Given the description of an element on the screen output the (x, y) to click on. 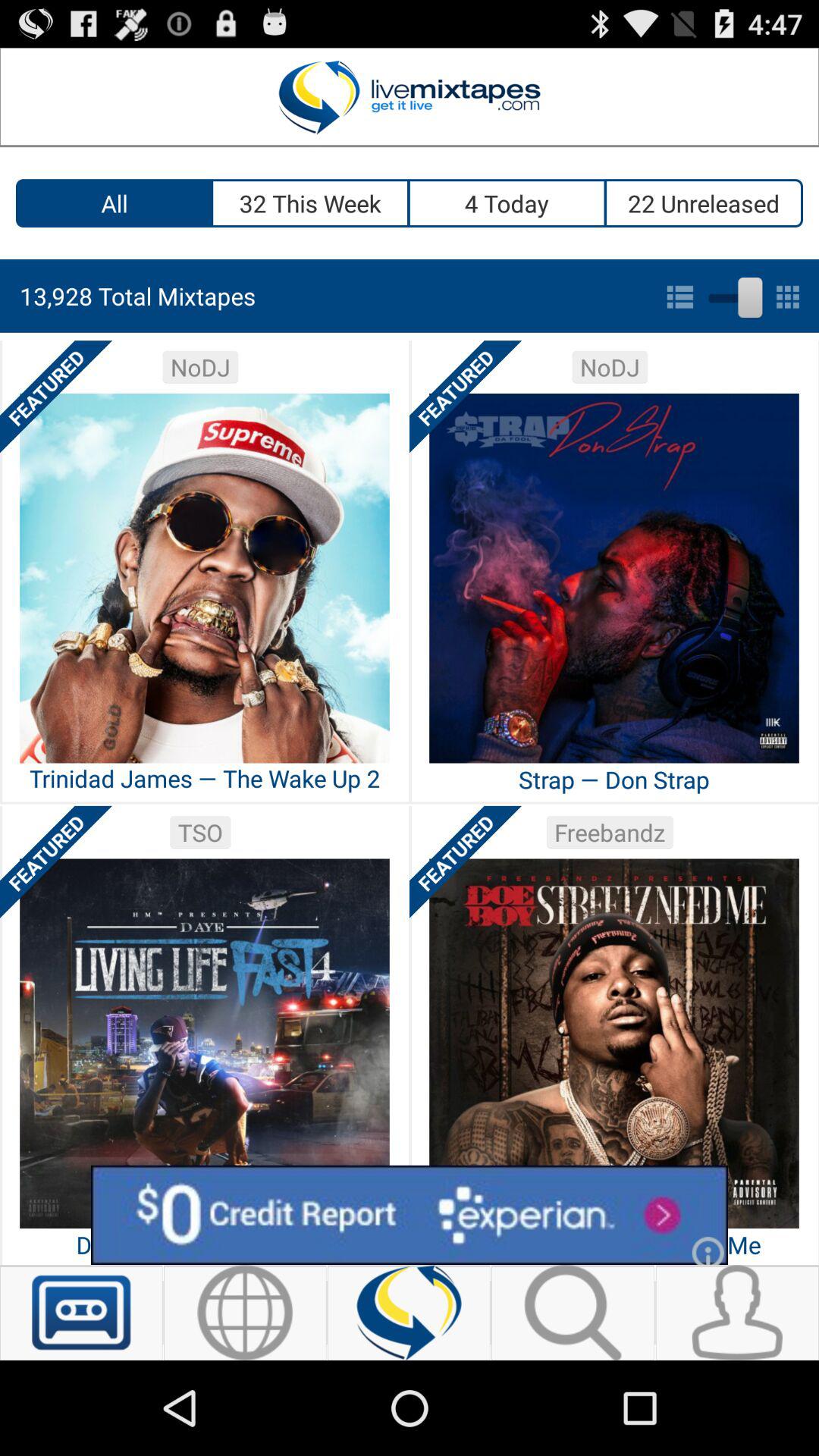
launch the icon above the 13 928 total icon (704, 203)
